Given the description of an element on the screen output the (x, y) to click on. 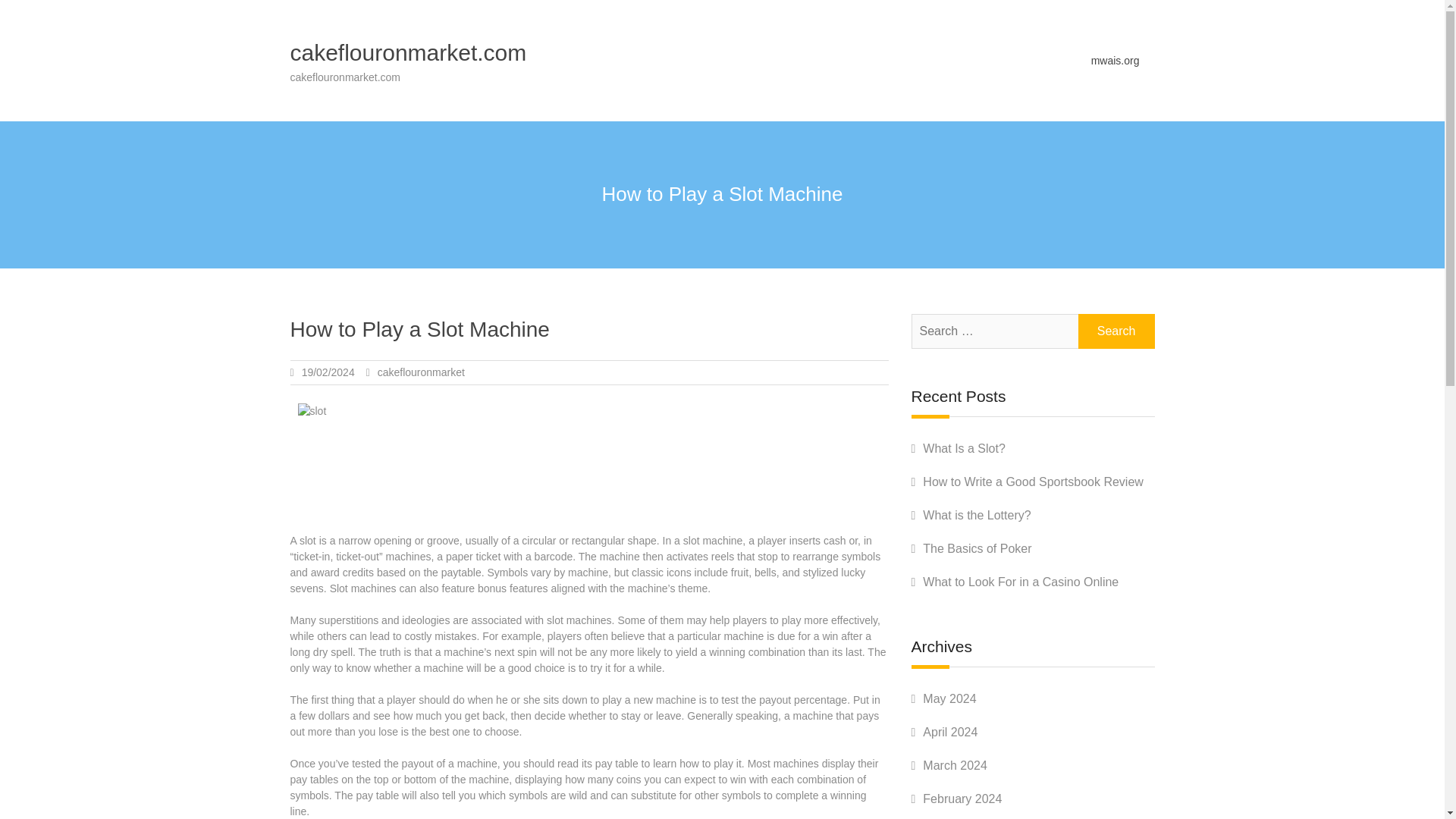
What is the Lottery? (976, 514)
March 2024 (955, 765)
cakeflouronmarket (420, 372)
Search (1116, 330)
May 2024 (949, 698)
cakeflouronmarket.com (407, 52)
February 2024 (962, 798)
How to Write a Good Sportsbook Review (1032, 481)
Search (1116, 330)
What Is a Slot? (964, 448)
